Given the description of an element on the screen output the (x, y) to click on. 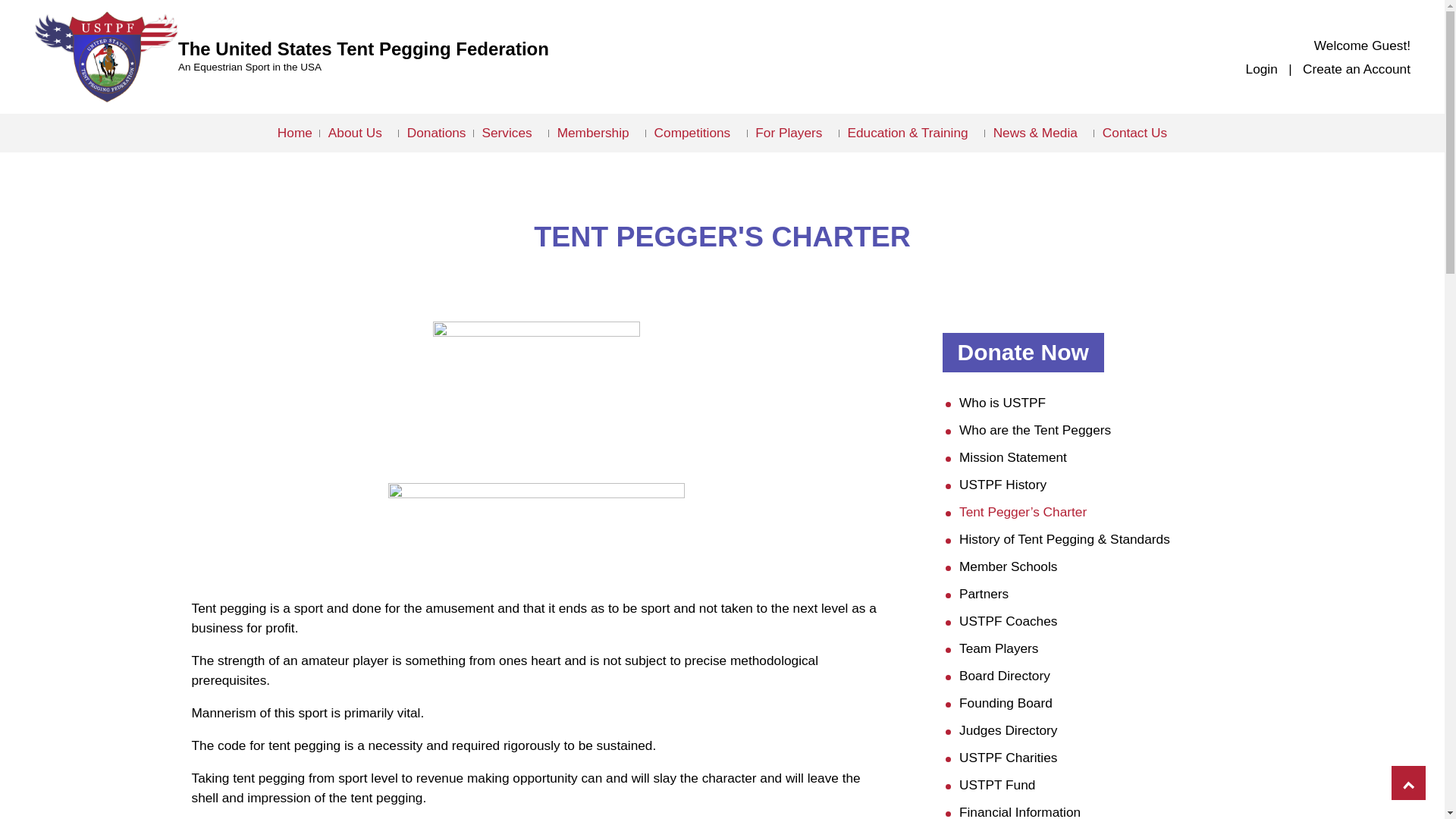
Competitions (696, 132)
Services (511, 132)
About Us (360, 132)
Donations (436, 132)
Home (295, 132)
The United States Tent Pegging Federation (362, 48)
Login (1262, 68)
Create an Account (1356, 68)
Membership (598, 132)
